Given the description of an element on the screen output the (x, y) to click on. 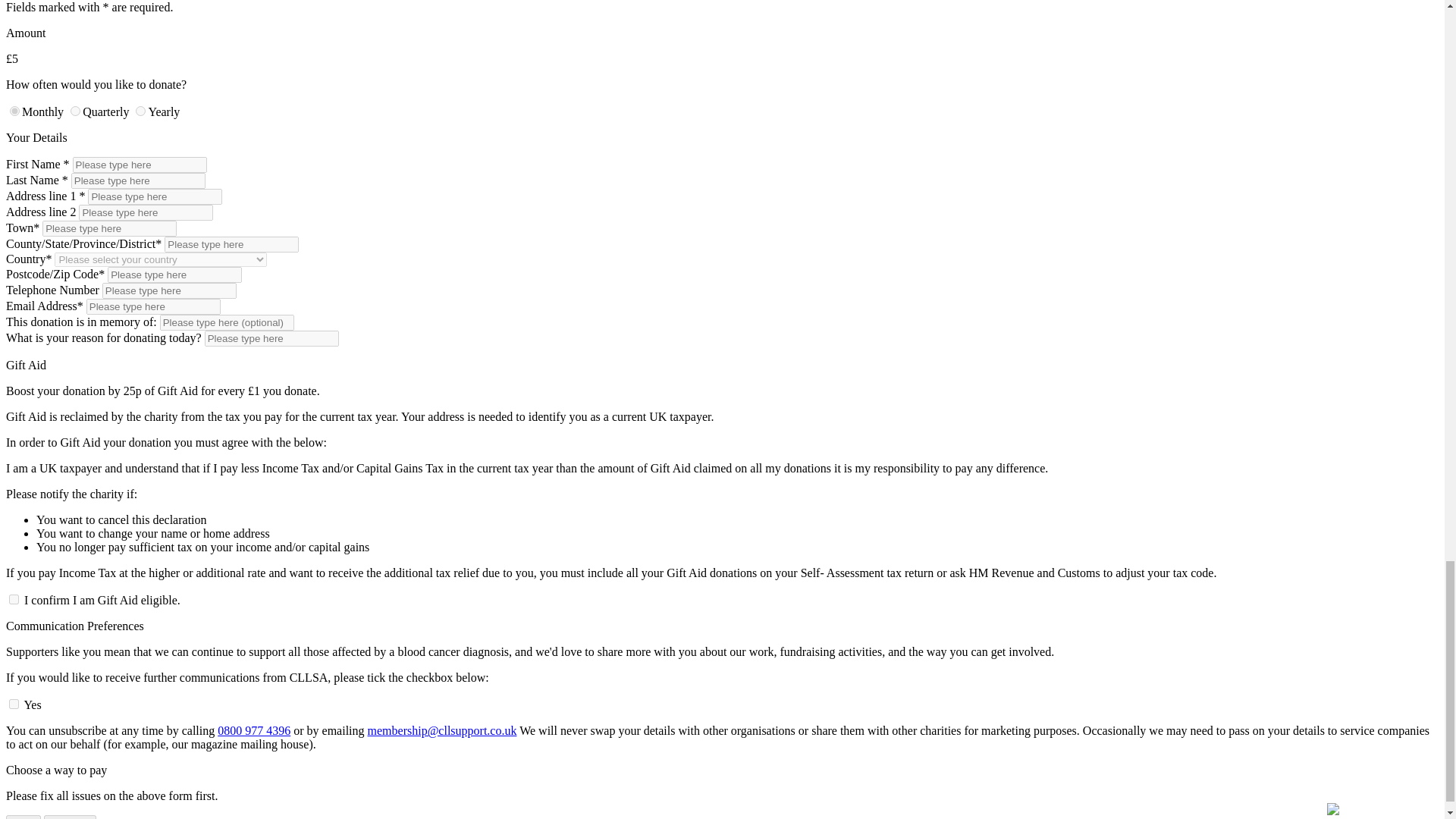
yes (13, 704)
quarterly (74, 111)
yes (13, 599)
monthly (15, 111)
yearly (140, 111)
